Given the description of an element on the screen output the (x, y) to click on. 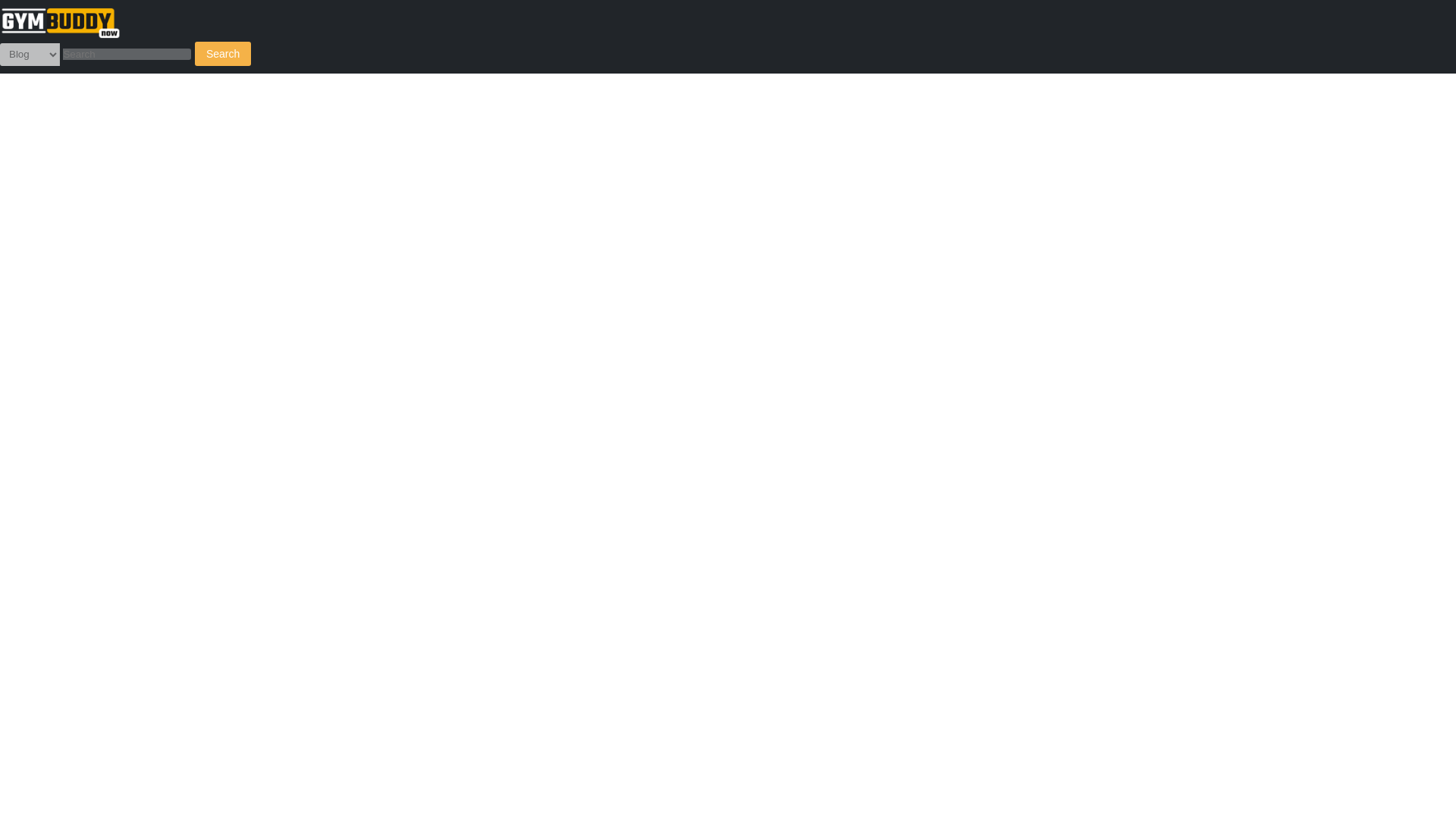
Search (222, 53)
